Given the description of an element on the screen output the (x, y) to click on. 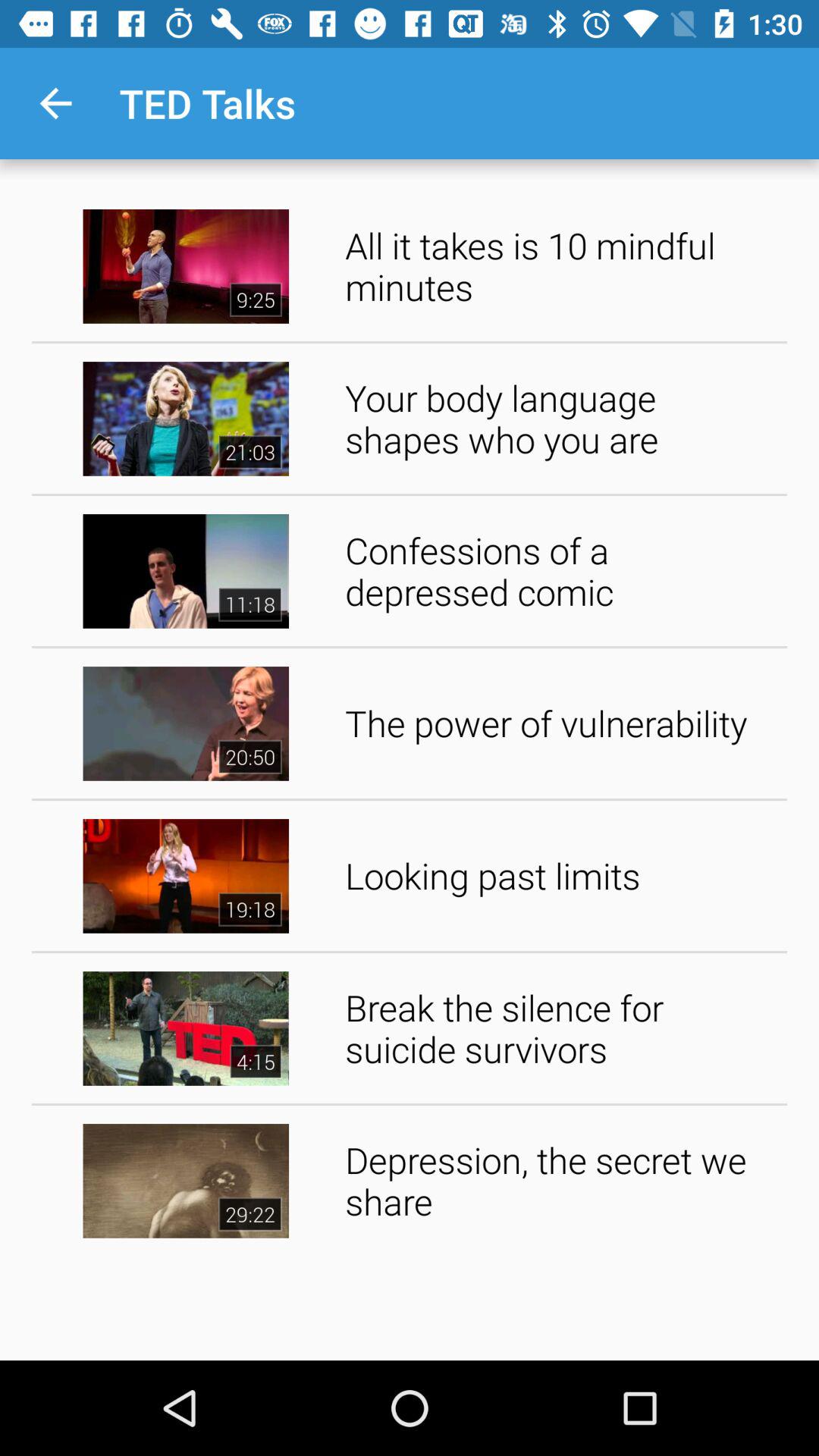
launch icon to the left of the ted talks (55, 103)
